Given the description of an element on the screen output the (x, y) to click on. 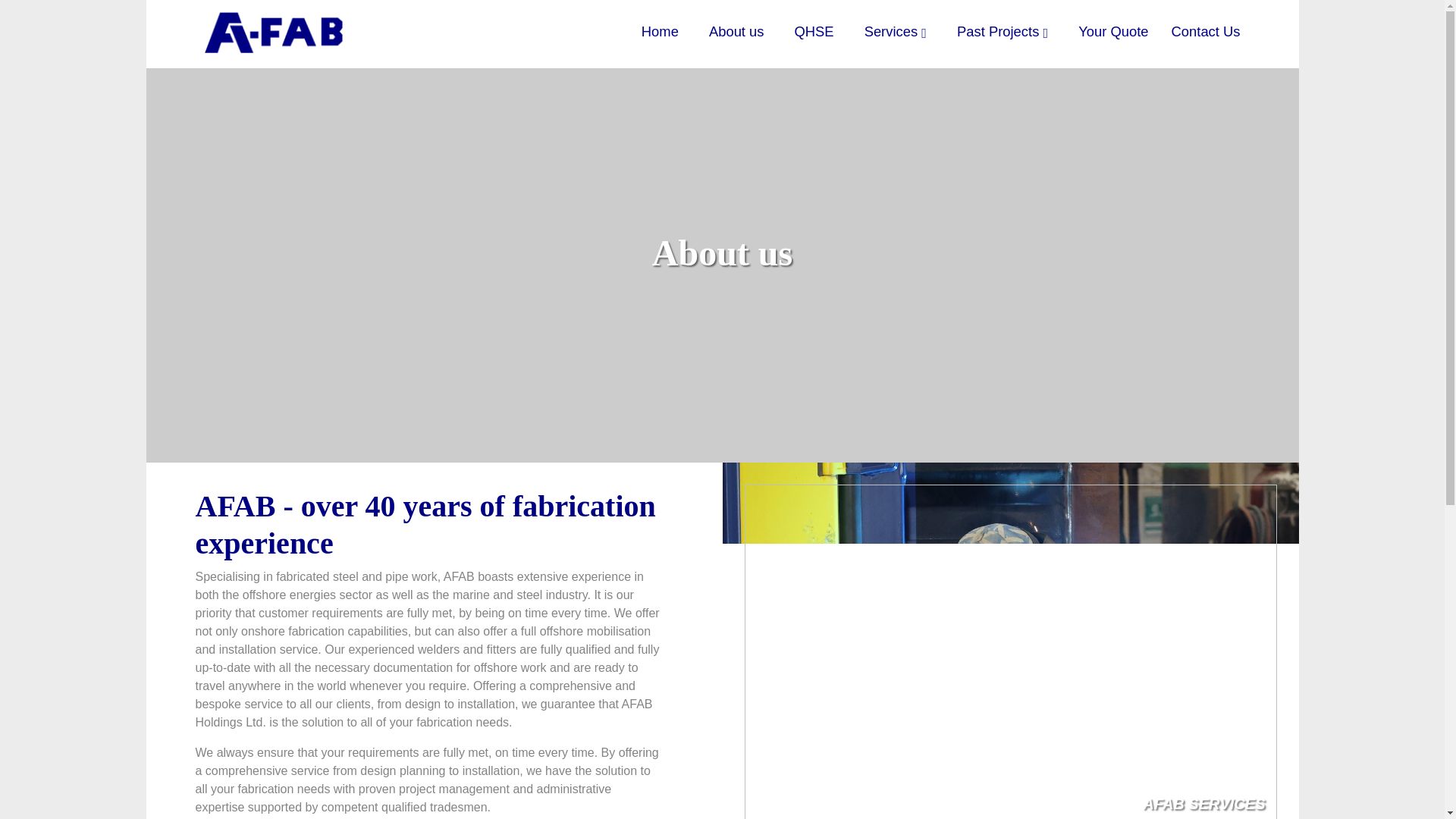
Services (895, 31)
Mud Tanks for the Borgsten Dolphin (1060, 81)
Home (660, 31)
About us (736, 31)
Plasma Cutter (940, 81)
Past Projects (1002, 31)
AFAB (274, 27)
QHSE (814, 31)
Past Projects (1002, 31)
Home (660, 31)
